Given the description of an element on the screen output the (x, y) to click on. 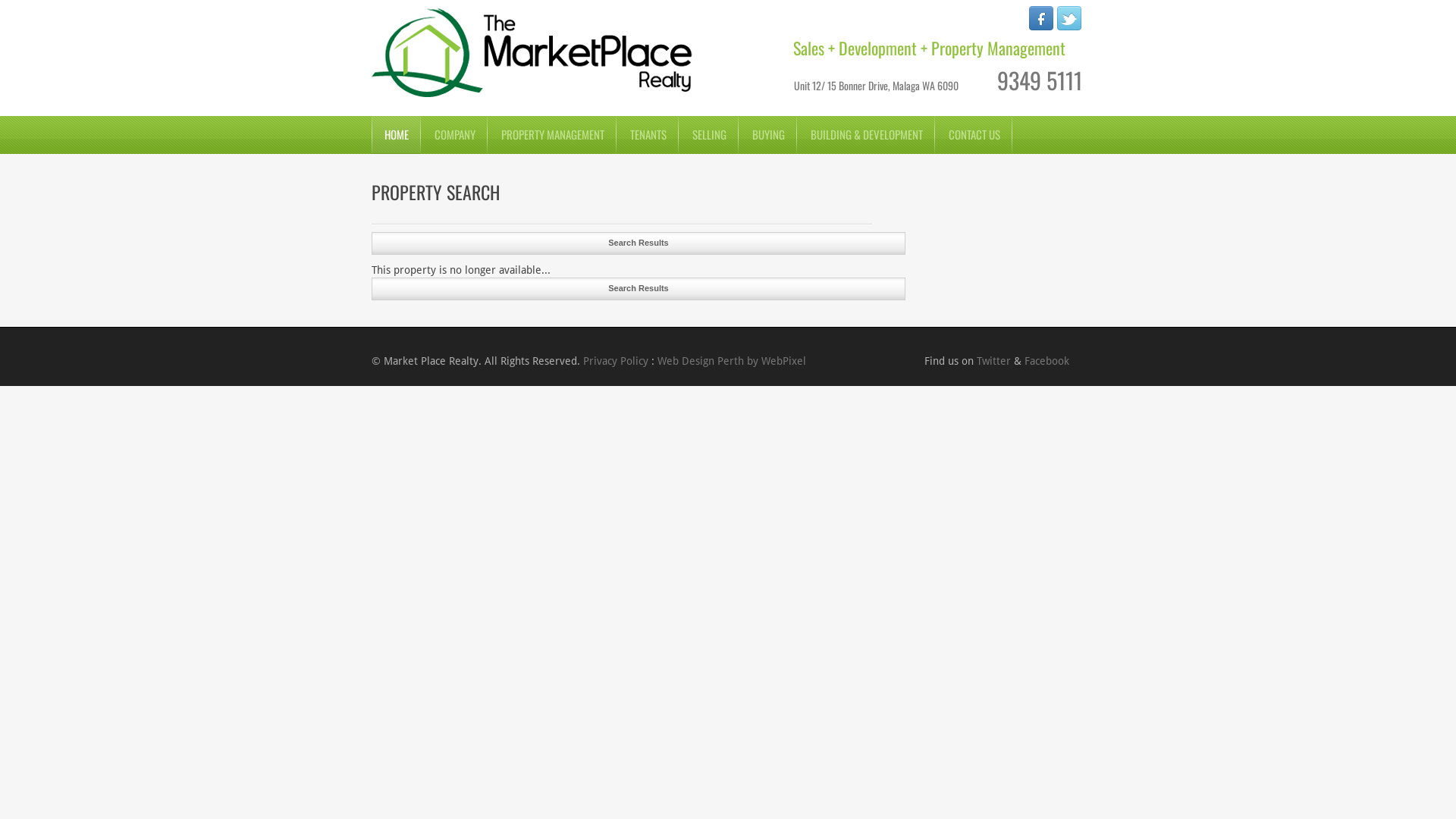
CONTACT US Element type: text (973, 134)
BUYING Element type: text (767, 134)
TENANTS Element type: text (646, 134)
Search Results Element type: text (637, 287)
BUILDING & DEVELOPMENT Element type: text (865, 134)
Search Results Element type: text (637, 242)
Web Design Perth by WebPixel Element type: text (731, 360)
SELLING Element type: text (707, 134)
Twitter Element type: text (993, 360)
Facebook Element type: text (1046, 360)
COMPANY Element type: text (453, 134)
HOME Element type: text (395, 134)
Privacy Policy Element type: text (615, 360)
PROPERTY MANAGEMENT Element type: text (551, 134)
